Given the description of an element on the screen output the (x, y) to click on. 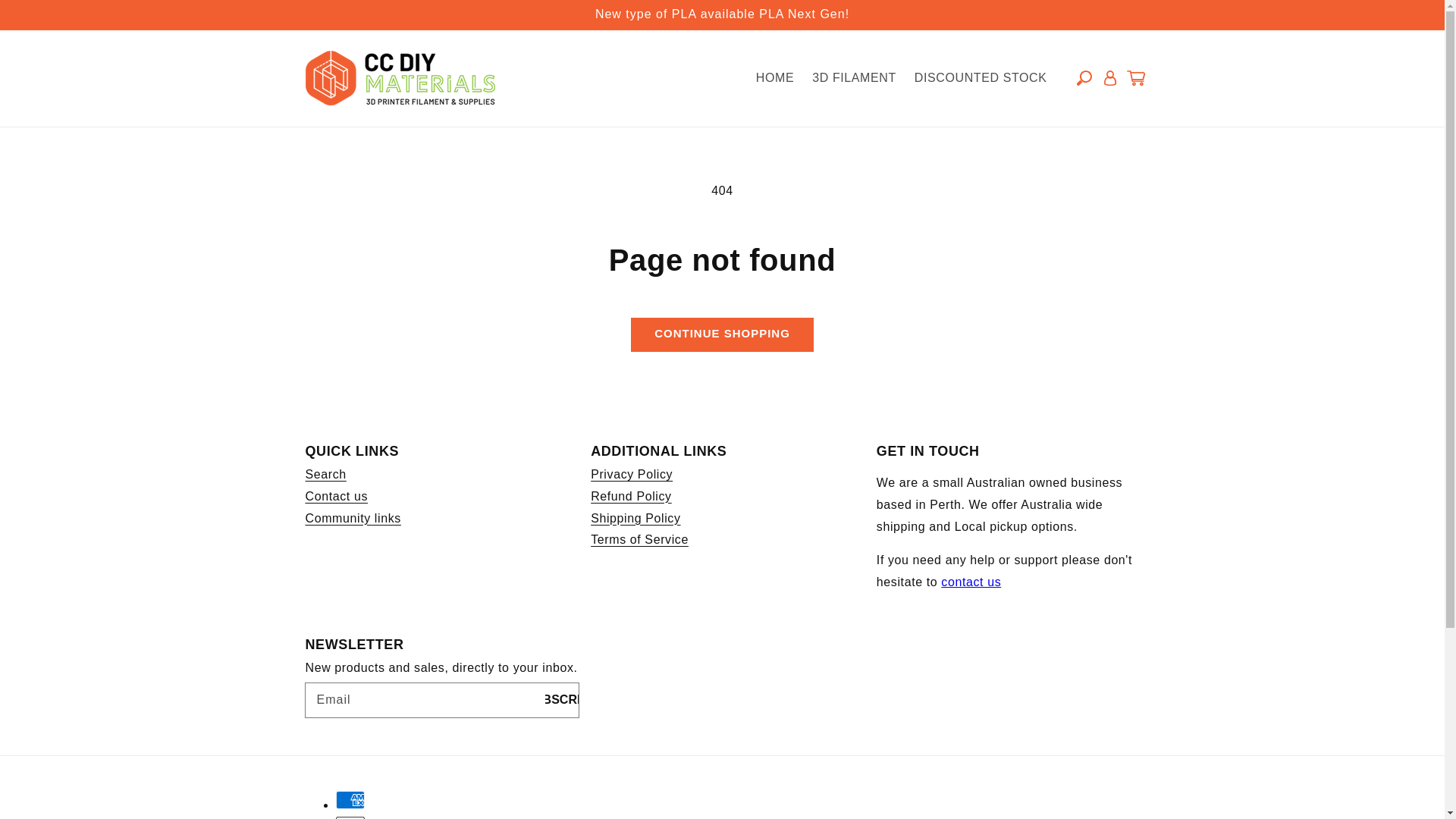
Cart (1135, 77)
Contact us (970, 581)
Apple Pay (349, 817)
3D FILAMENT (854, 78)
Community links (352, 518)
Terms of Service (639, 540)
contact us (970, 581)
HOME (774, 78)
Search (325, 475)
SKIP TO CONTENT (45, 16)
Contact us (335, 496)
Refund Policy (631, 496)
American Express (349, 800)
Shipping Policy (635, 518)
SUBSCRIBE (561, 699)
